Given the description of an element on the screen output the (x, y) to click on. 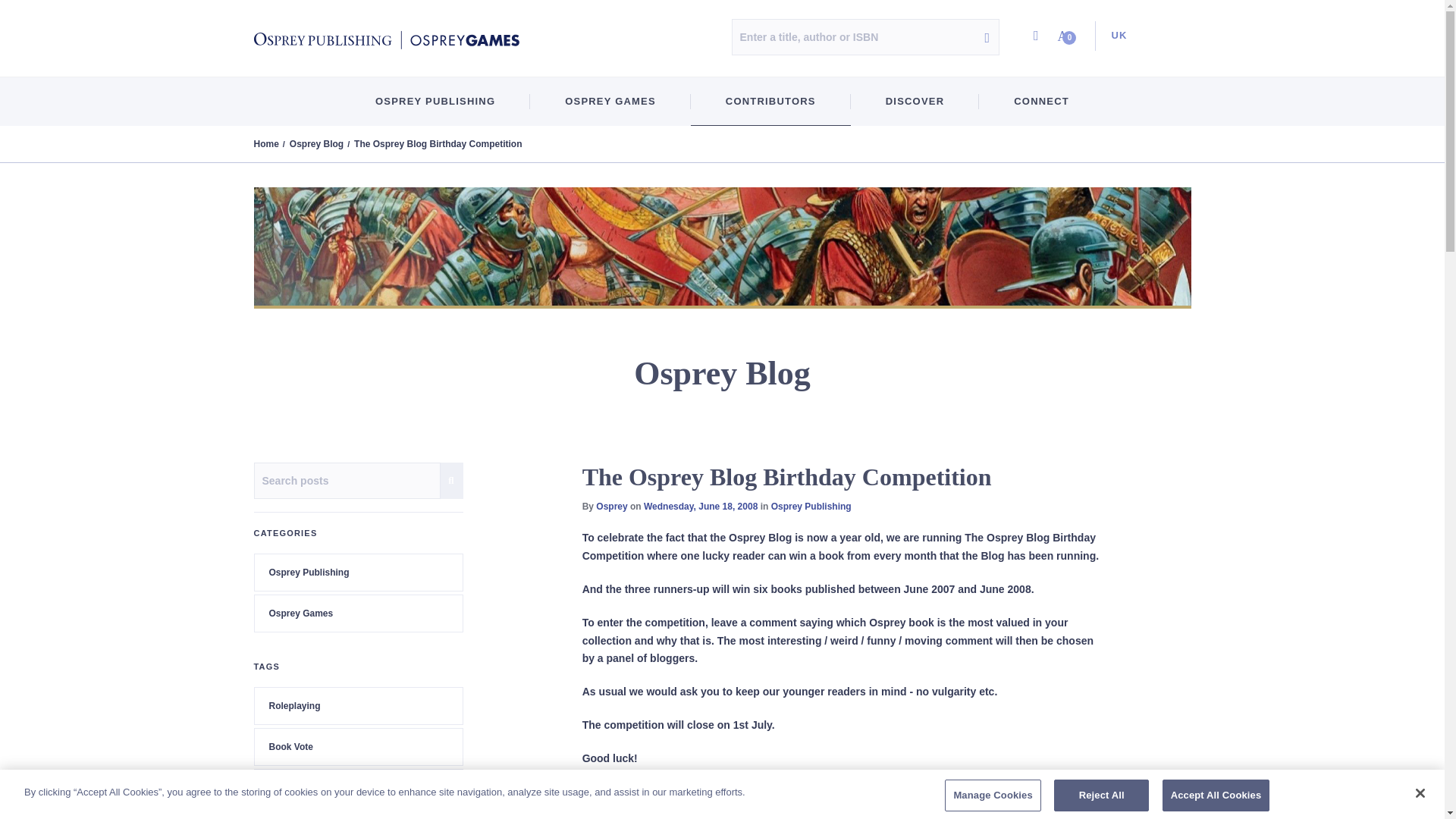
CONNECT (1040, 101)
0 (1066, 35)
DISCOVER (914, 101)
OSPREY PUBLISHING (434, 101)
OSPREY GAMES (609, 101)
CONTRIBUTORS (770, 101)
UK (1114, 35)
